Given the description of an element on the screen output the (x, y) to click on. 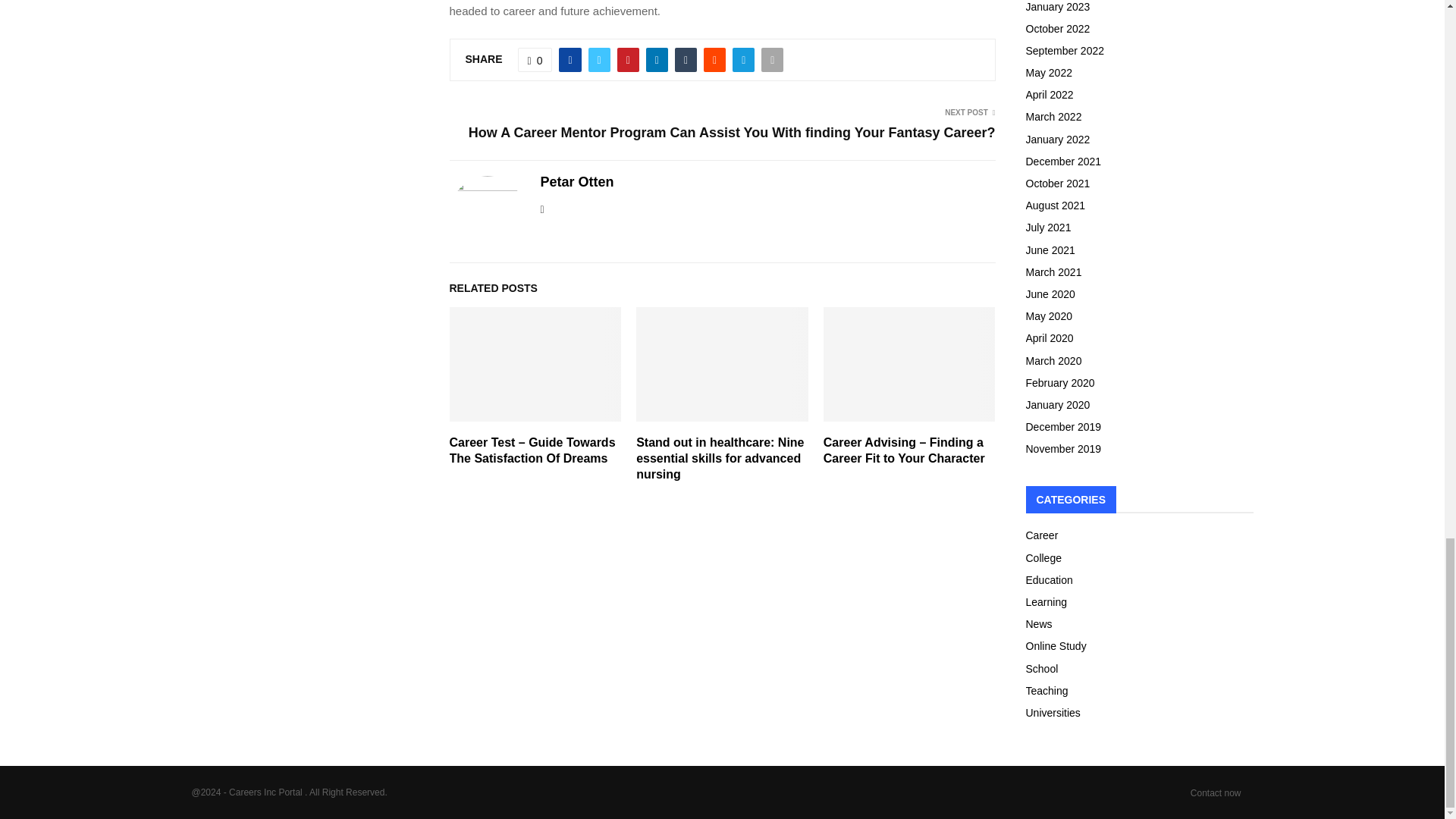
Like (535, 59)
